Given the description of an element on the screen output the (x, y) to click on. 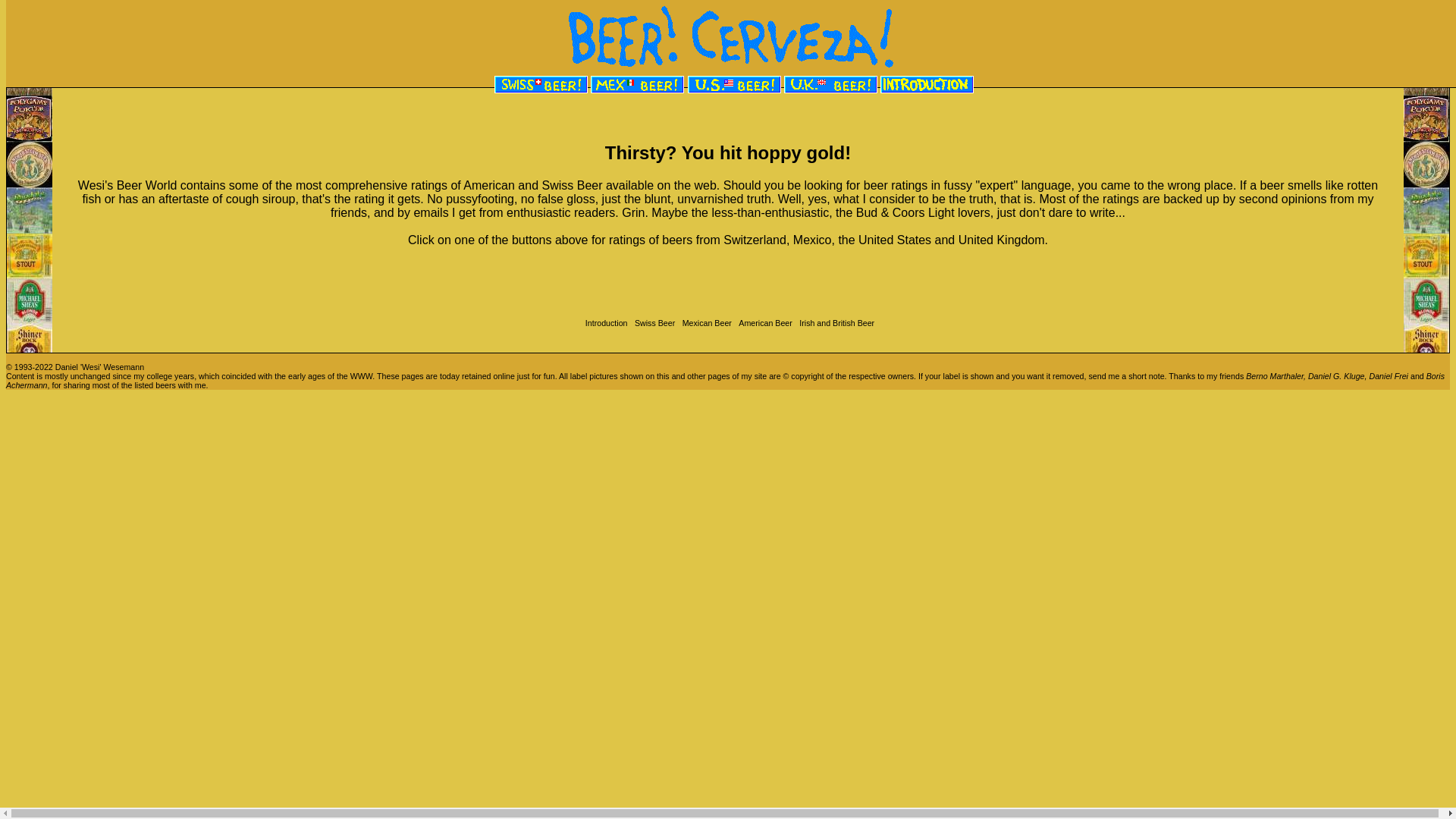
Swiss Beer Element type: text (652, 322)
Irish and British Beer Element type: text (834, 322)
American Beer Element type: text (762, 322)
Mexican Beer Element type: text (704, 322)
Introduction Element type: text (604, 322)
